Given the description of an element on the screen output the (x, y) to click on. 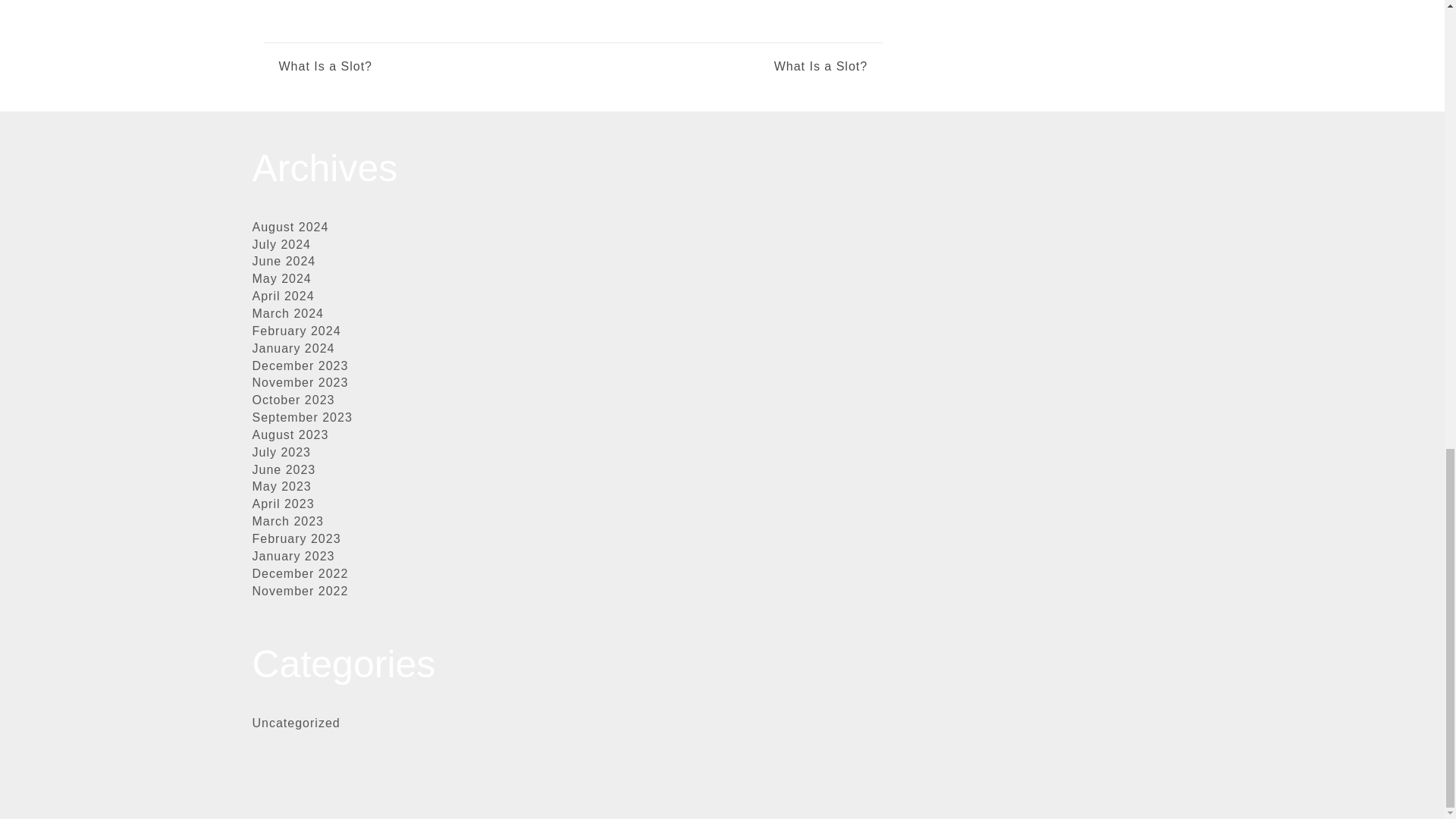
March 2024 (287, 313)
August 2023 (290, 434)
March 2023 (287, 521)
November 2023 (299, 382)
October 2023 (292, 399)
September 2023 (301, 417)
February 2024 (295, 330)
July 2024 (281, 244)
May 2024 (281, 278)
What Is a Slot? (325, 67)
